Given the description of an element on the screen output the (x, y) to click on. 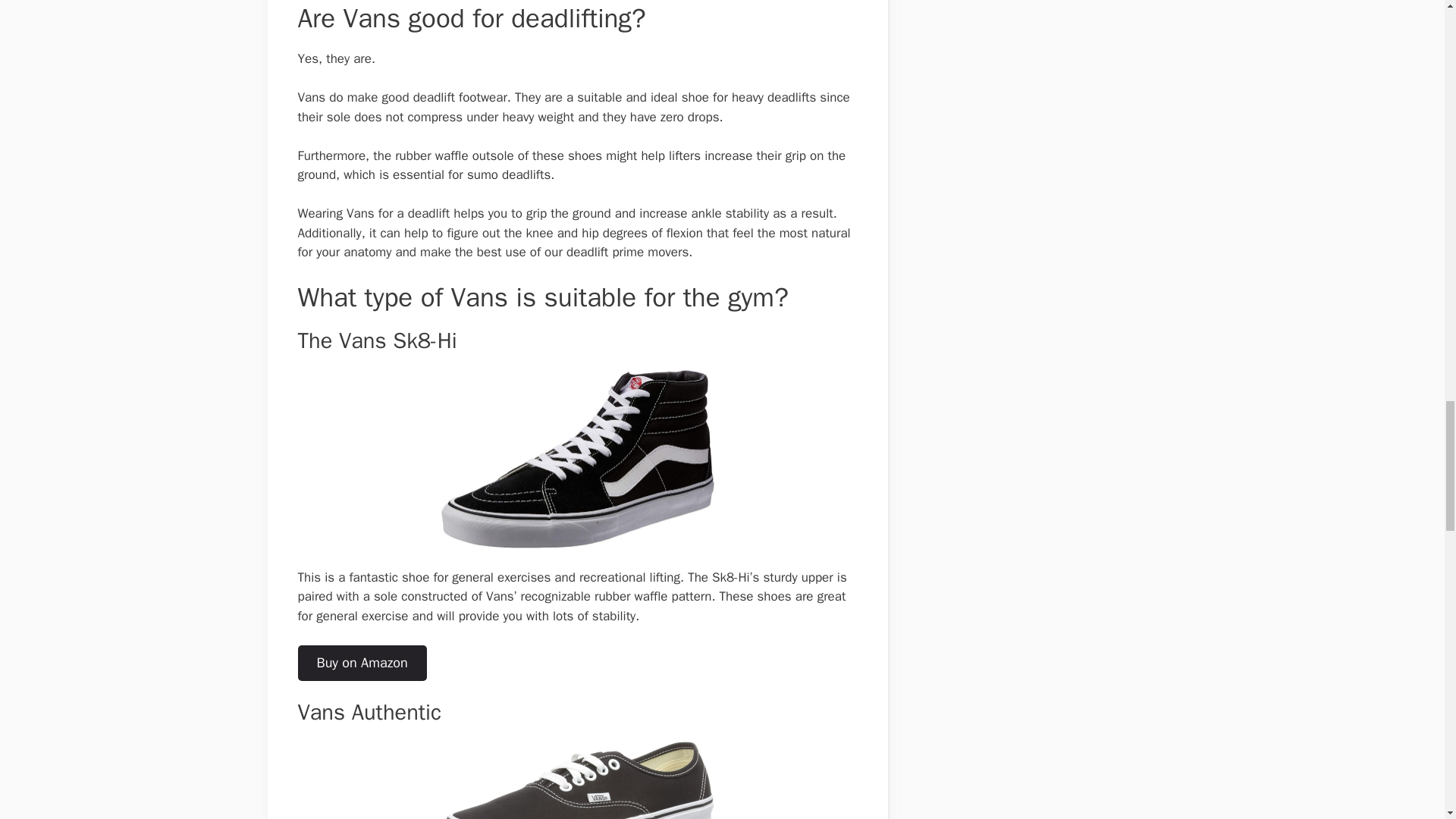
Buy on Amazon (361, 662)
